Given the description of an element on the screen output the (x, y) to click on. 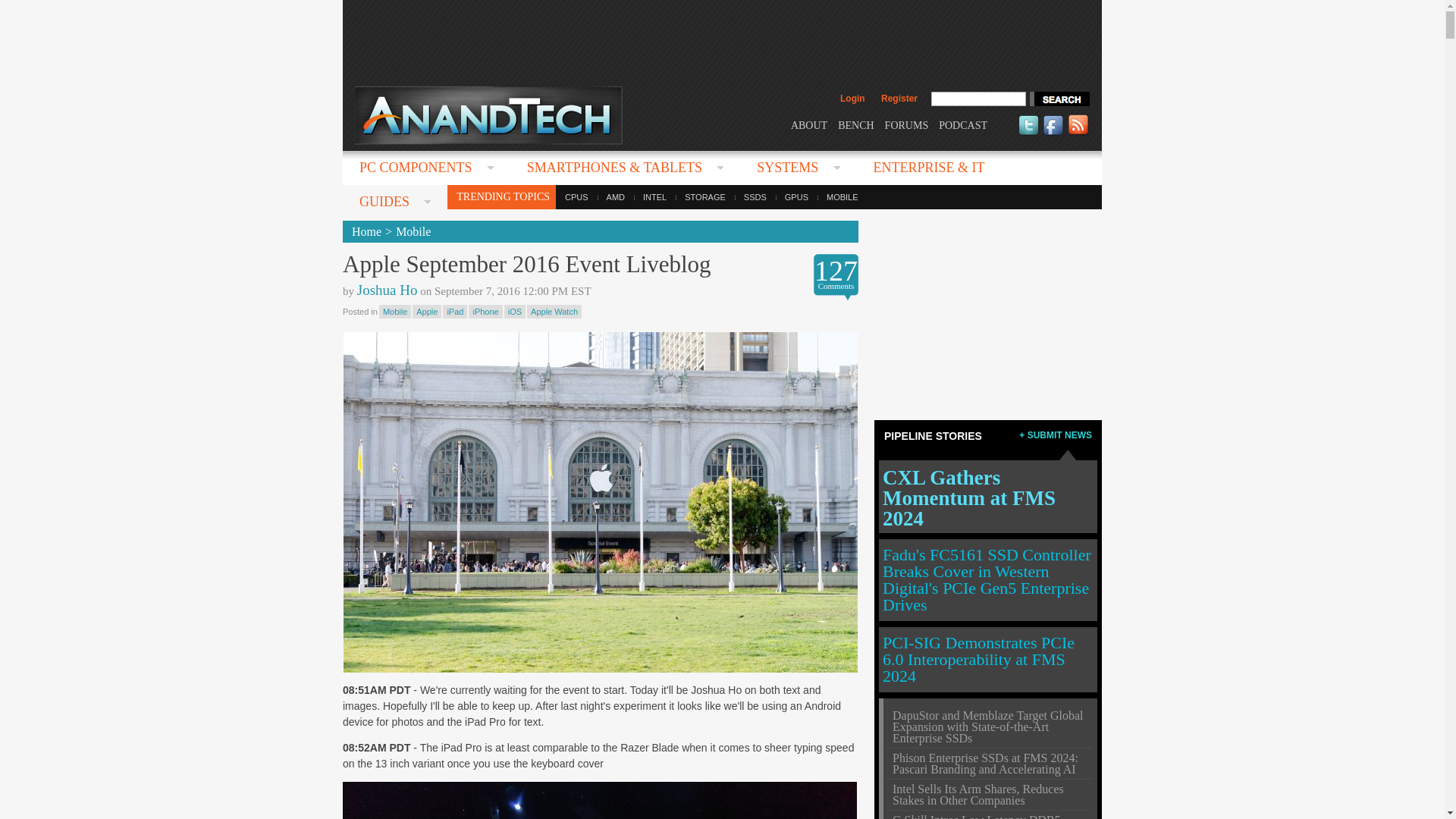
BENCH (855, 125)
search (1059, 98)
Register (898, 98)
ABOUT (808, 125)
search (1059, 98)
search (1059, 98)
FORUMS (906, 125)
PODCAST (963, 125)
Login (852, 98)
